Given the description of an element on the screen output the (x, y) to click on. 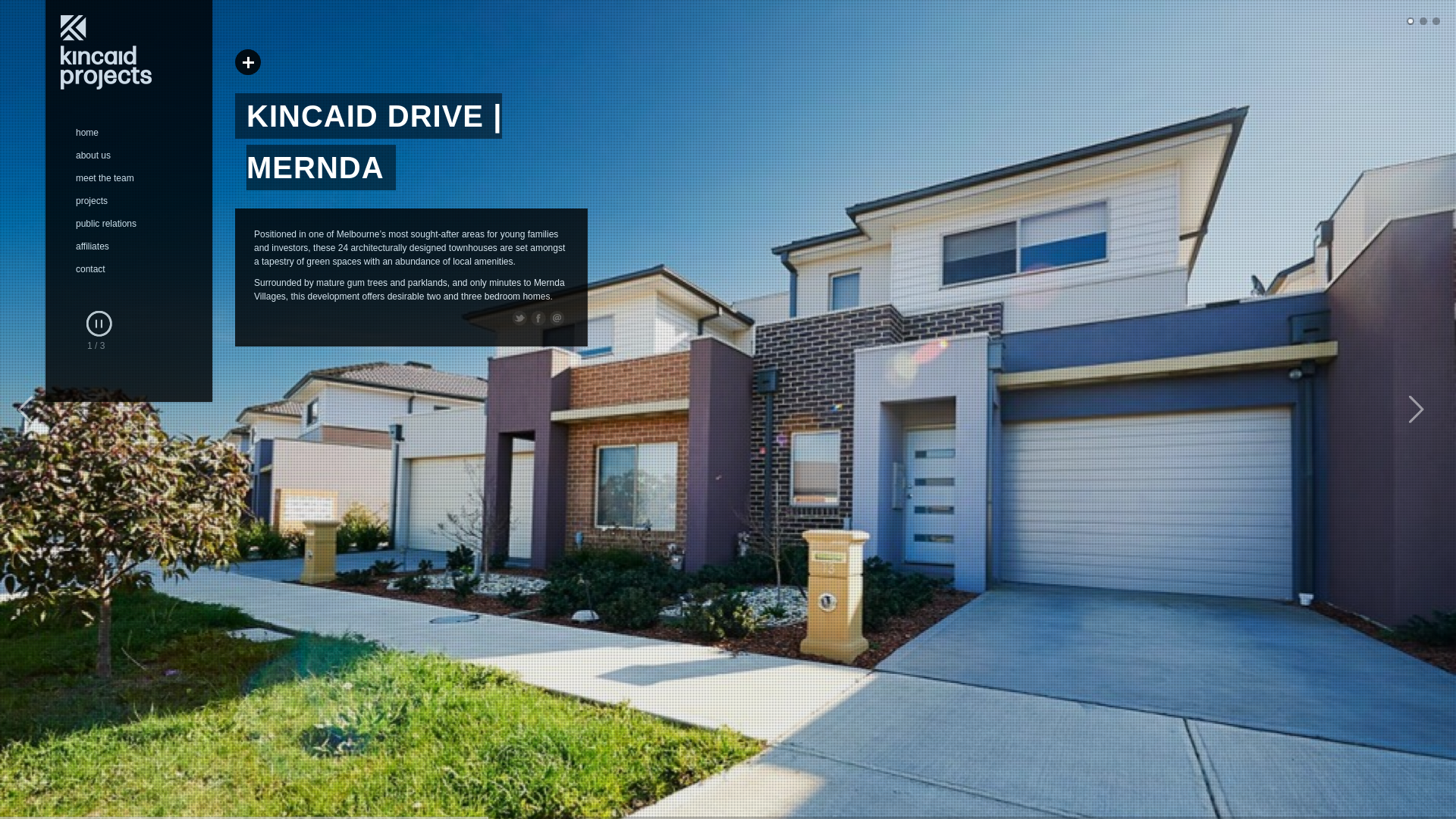
projects Element type: text (136, 200)
public relations Element type: text (136, 223)
contact Element type: text (136, 268)
Share on Twitter Element type: text (519, 318)
affiliates Element type: text (136, 246)
Share on Facebook Element type: text (538, 318)
Email This Element type: text (556, 318)
Read More Element type: text (247, 62)
meet the team Element type: text (136, 177)
about us Element type: text (136, 155)
home Element type: text (136, 132)
